Given the description of an element on the screen output the (x, y) to click on. 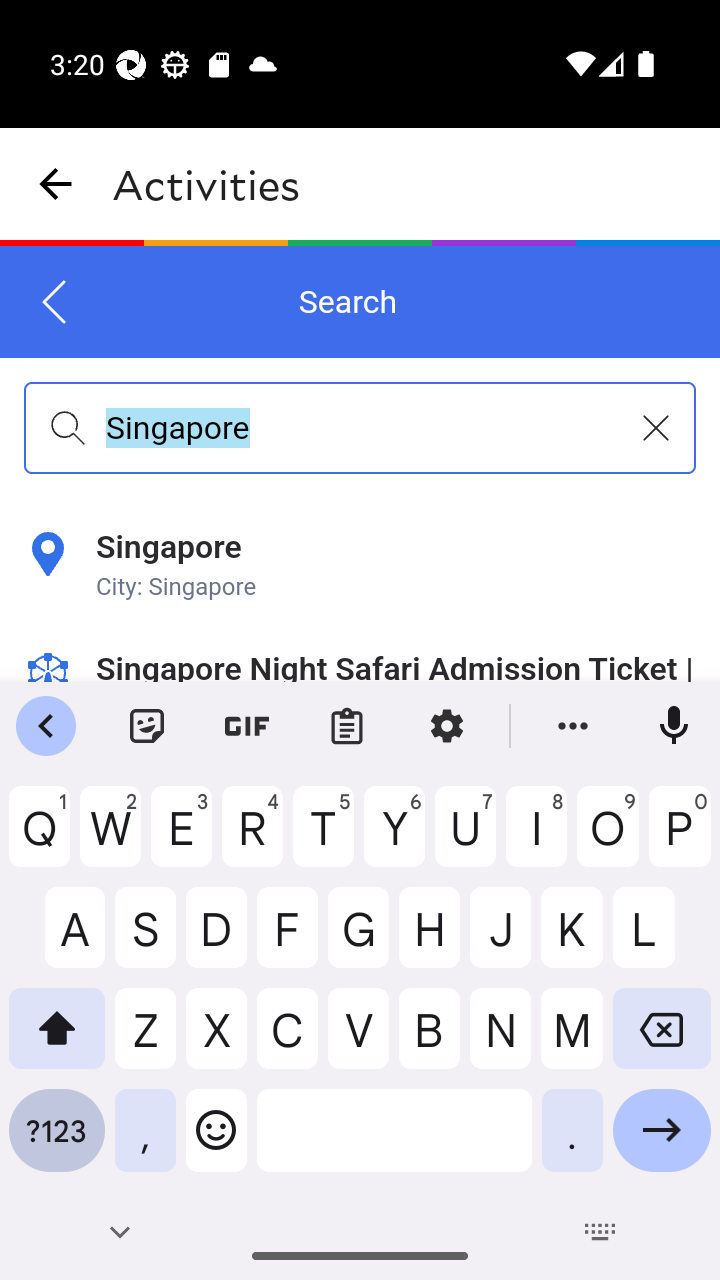
navigation_button (56, 184)
Find your next adventure   Singapore Search (360, 463)
Back (55, 301)
Singapore (359, 427)
Clear (655, 428)
Singapore City: Singapore (360, 566)
